Given the description of an element on the screen output the (x, y) to click on. 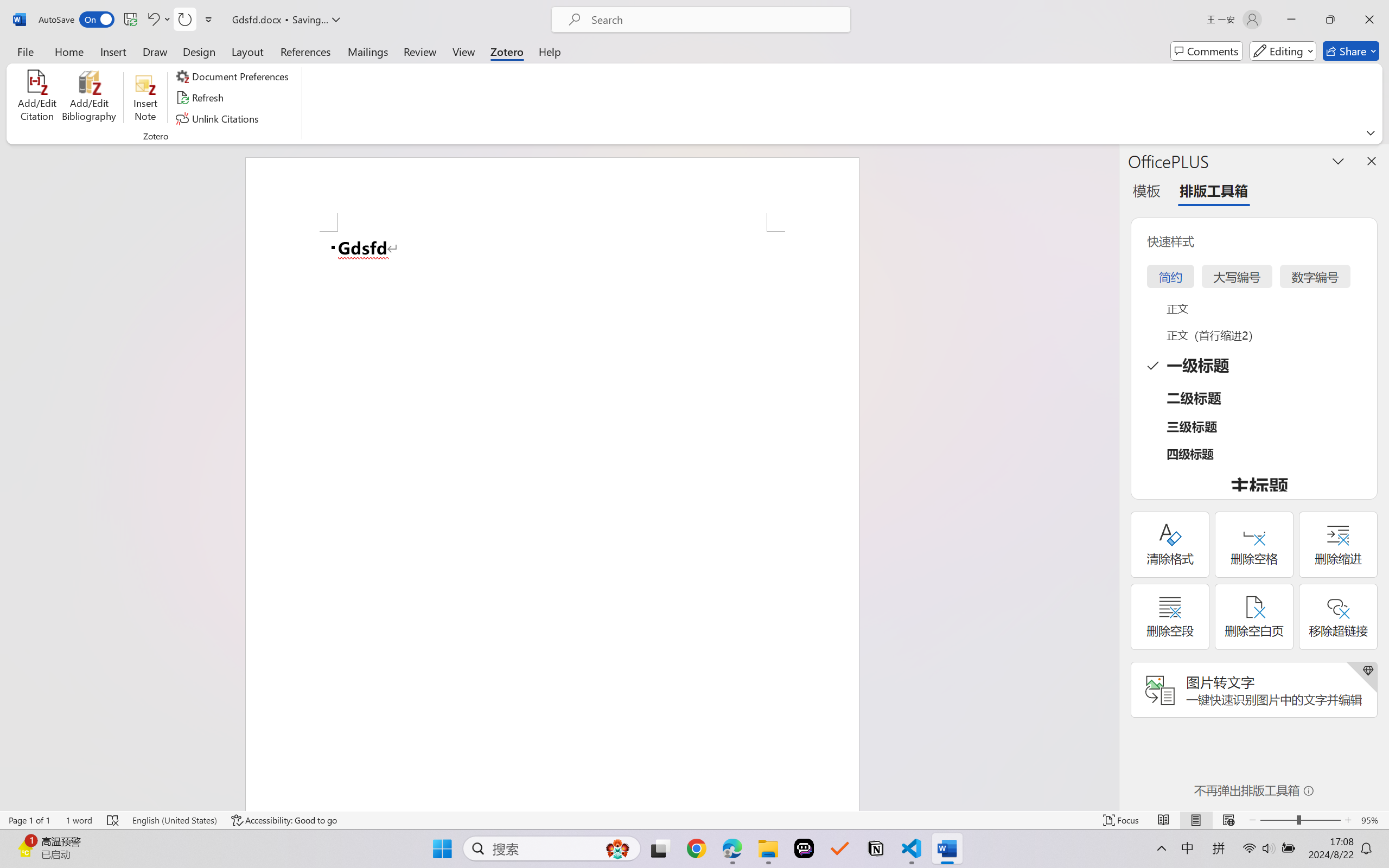
Document Preferences (233, 75)
Page 1 content (552, 520)
Insert Note (145, 97)
